Given the description of an element on the screen output the (x, y) to click on. 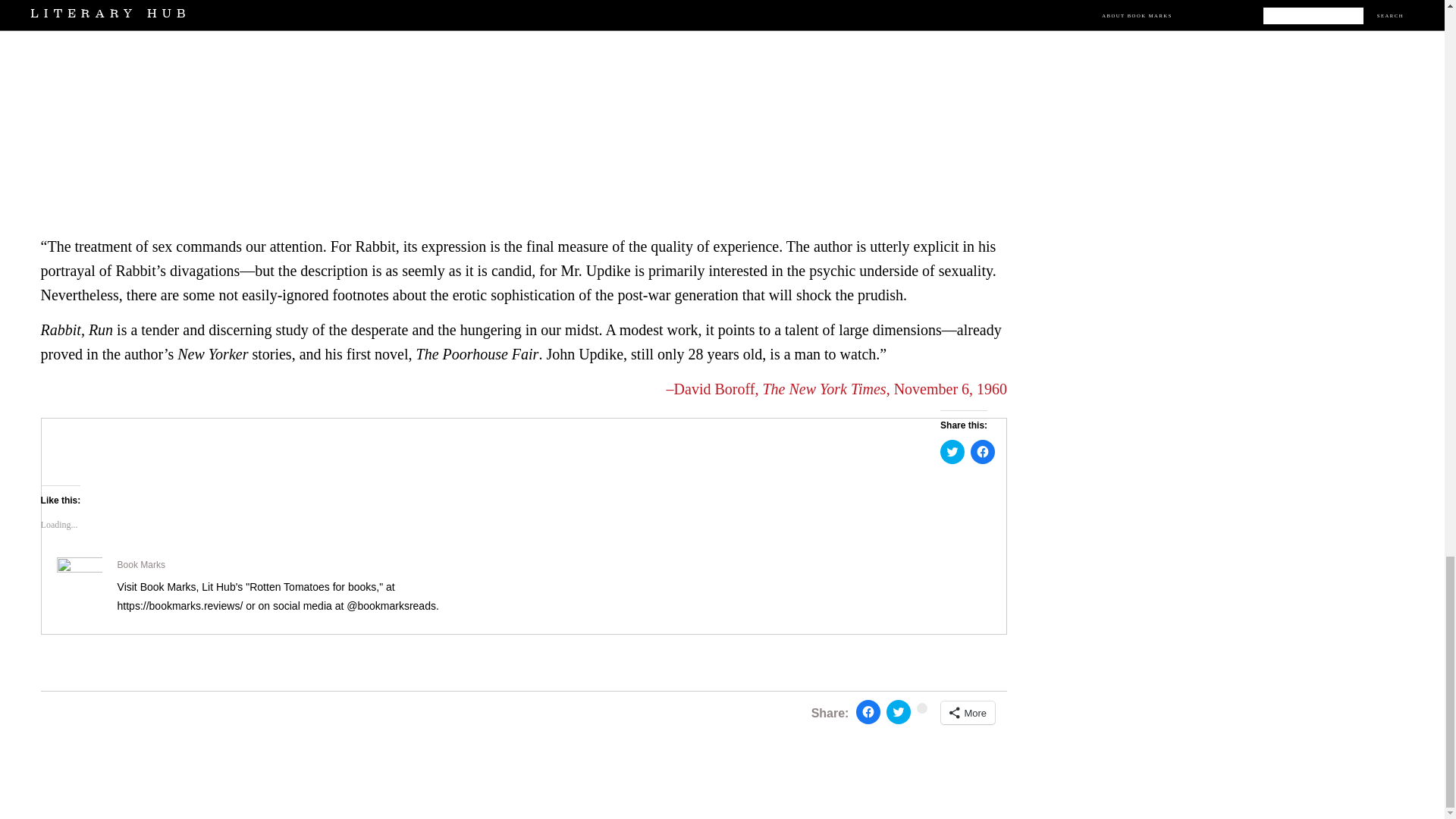
Book Marks (141, 563)
Click to share on Facebook (982, 451)
Share on Facebook (868, 711)
Click to share on Twitter (951, 451)
Click to share on Twitter (898, 711)
